Given the description of an element on the screen output the (x, y) to click on. 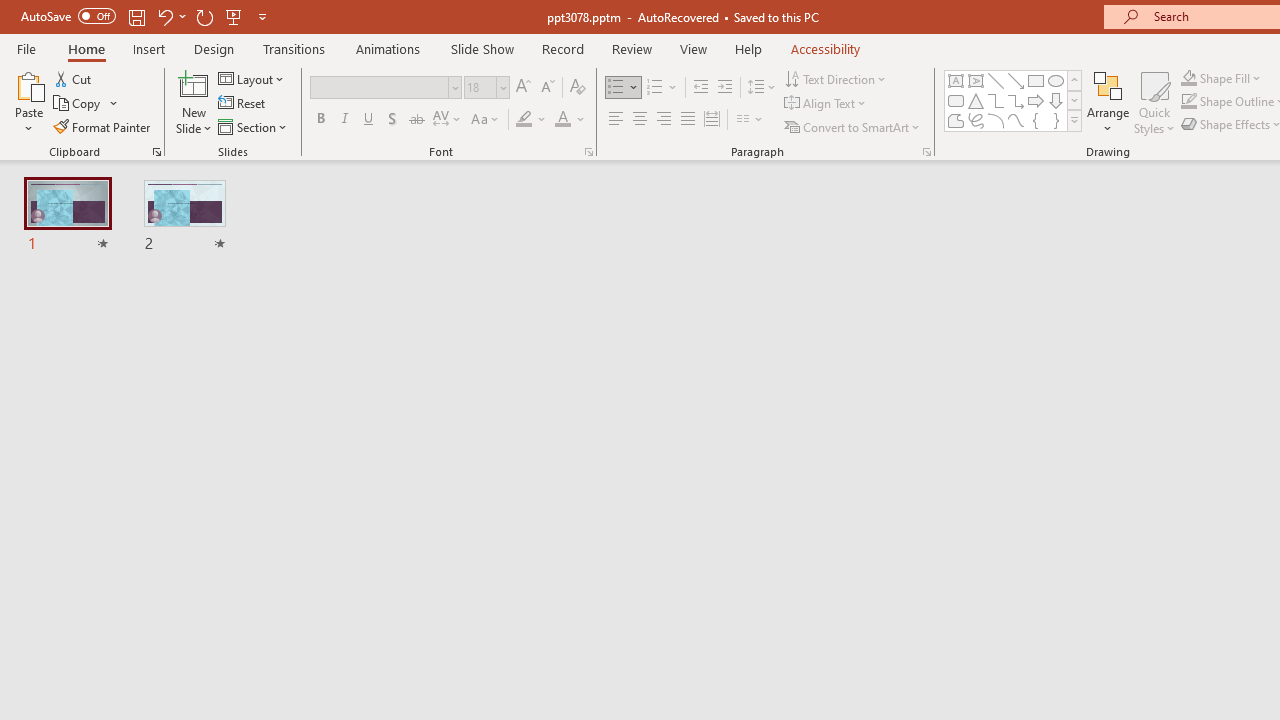
Shape Fill Dark Green, Accent 2 (1188, 78)
